Given the description of an element on the screen output the (x, y) to click on. 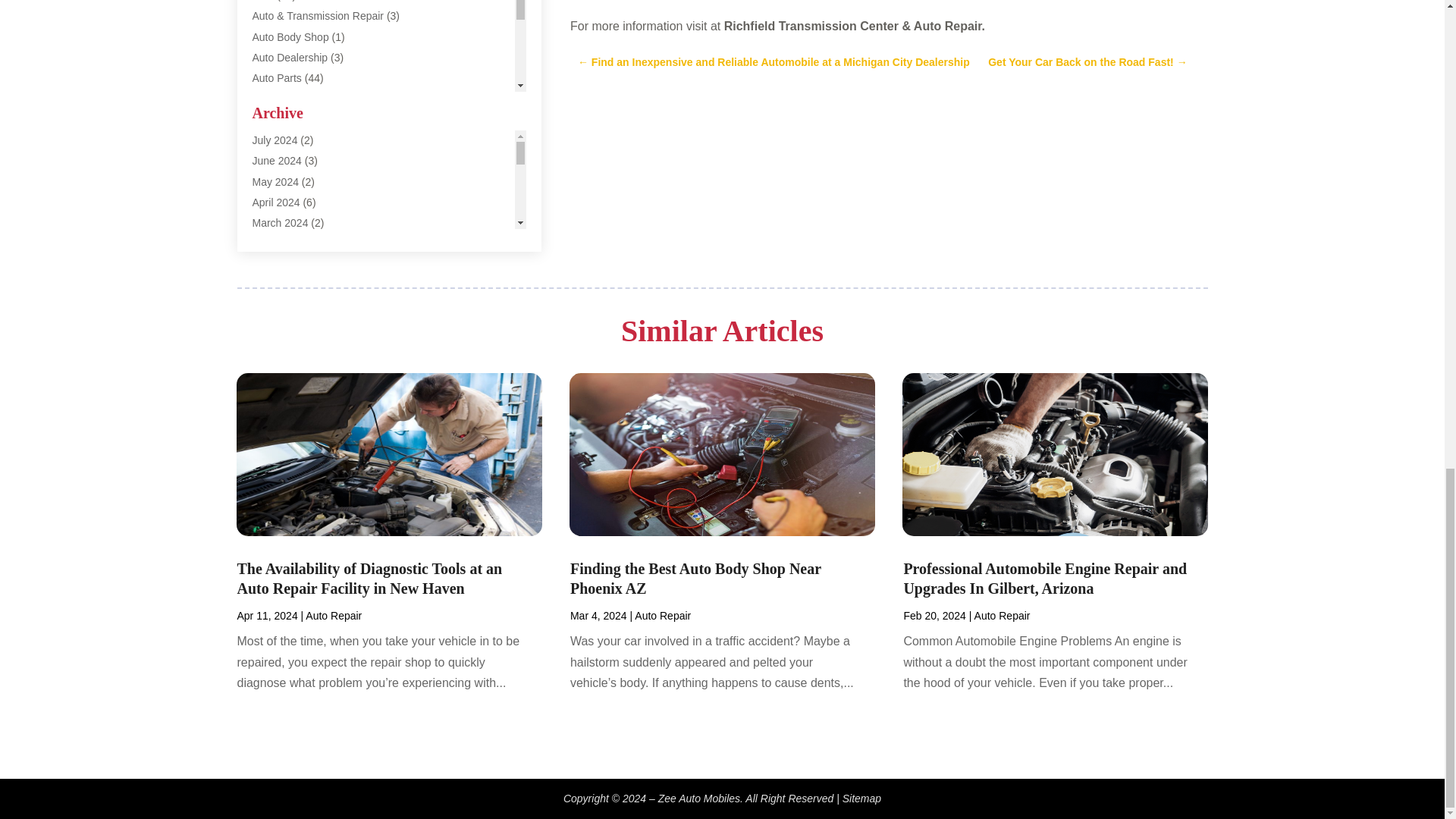
Auto Sales (276, 140)
Car Restoration Service (308, 408)
Automobile (277, 160)
Auto Repair (279, 98)
Car Rental (276, 367)
Auto Repair Shop (293, 119)
Car Repair (276, 387)
Automotive Industry (298, 222)
Automotive Repair Shop (308, 242)
Auto Body Shop (290, 37)
Auto Dealership (289, 57)
Auto (262, 0)
Business (273, 284)
Auto Parts (276, 78)
Automobile Maintenance (309, 181)
